Given the description of an element on the screen output the (x, y) to click on. 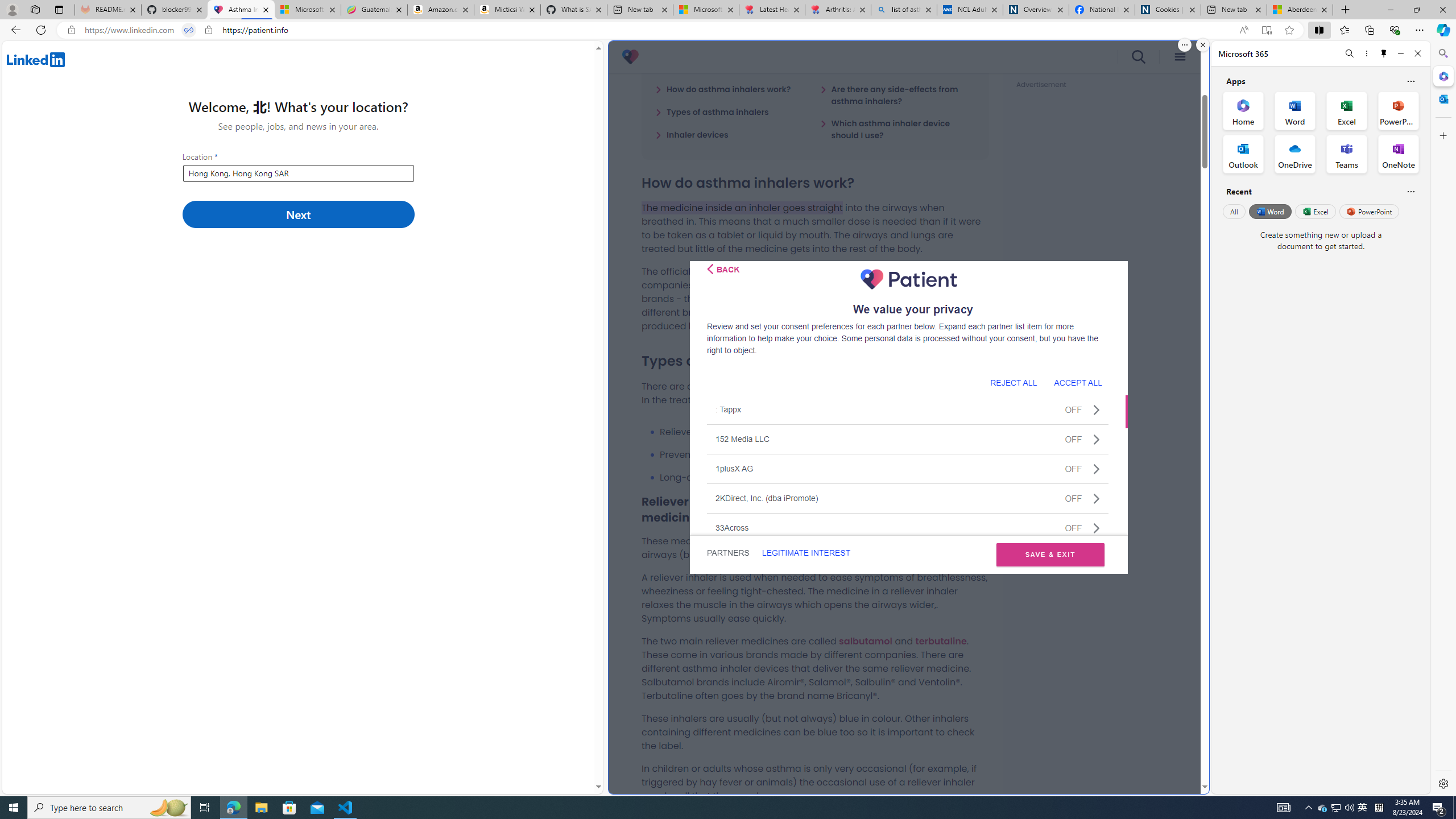
Excel (1315, 210)
Close split screen. (1202, 45)
More options. (1183, 45)
Teams Office App (1346, 154)
Preventers (steroid inhalers). (823, 454)
Patient 3.0 (630, 56)
search (1138, 56)
Publisher Logo (908, 278)
